Given the description of an element on the screen output the (x, y) to click on. 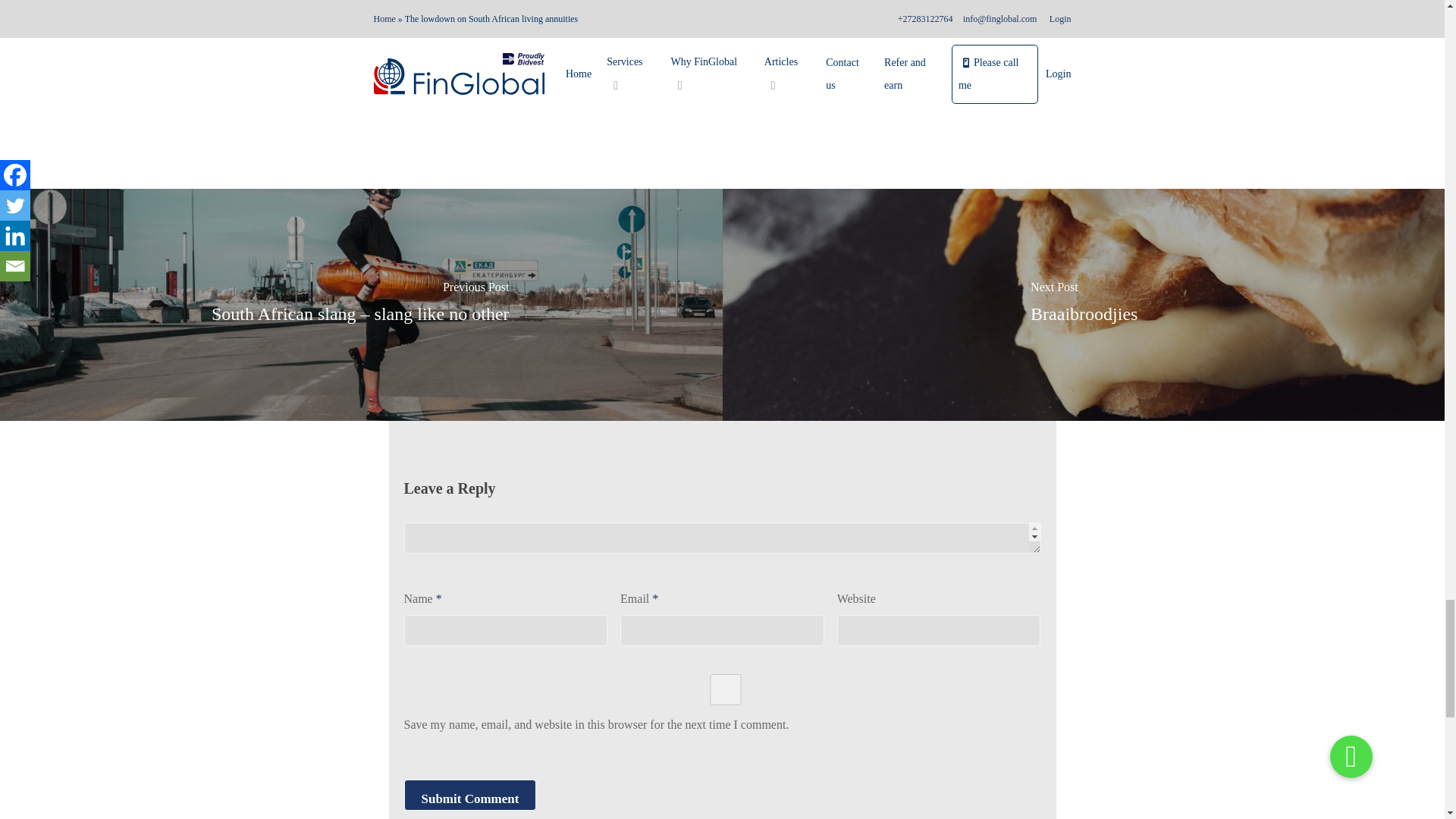
yes (724, 689)
Submit Comment (469, 794)
